Given the description of an element on the screen output the (x, y) to click on. 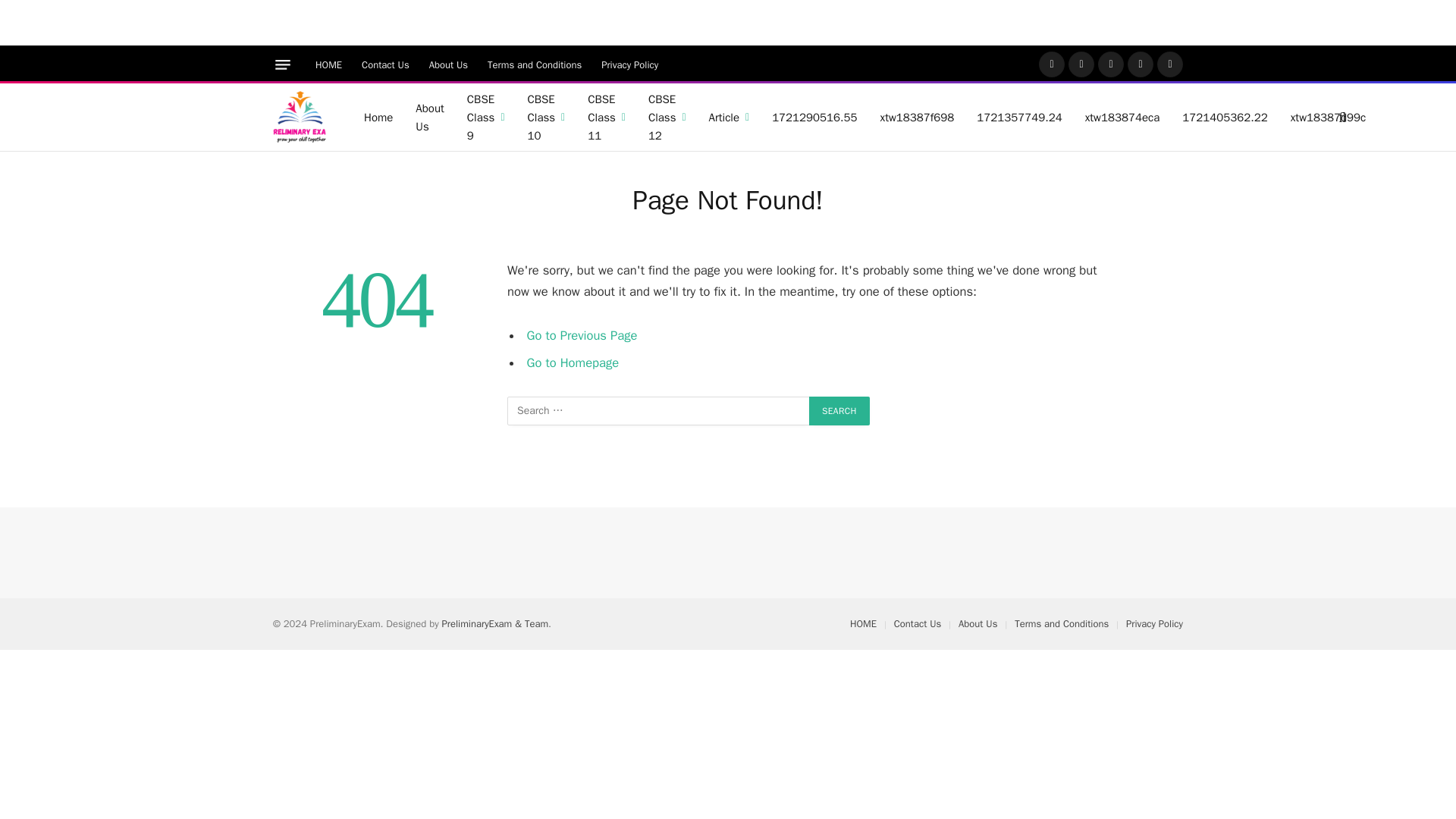
Search (839, 410)
Search (839, 410)
